Given the description of an element on the screen output the (x, y) to click on. 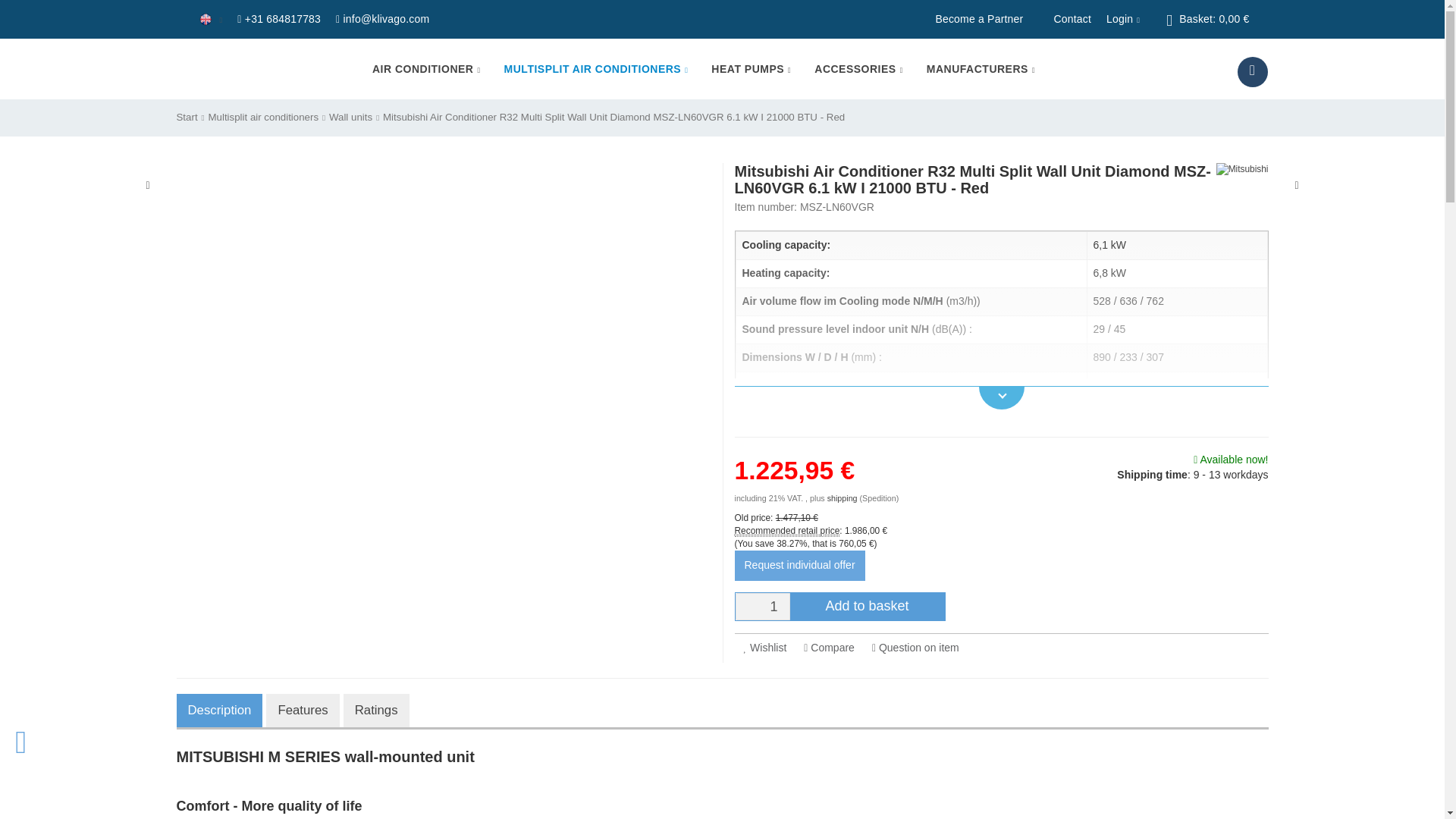
Basket (1207, 18)
1 (762, 605)
Contact (1071, 19)
Please choose a language (210, 19)
Contact-Form (1071, 19)
AIR CONDITIONER (426, 68)
HEAT PUMPS (751, 68)
Login (1123, 19)
MULTISPLIT AIR CONDITIONERS (596, 68)
Multisplit air conditioners (263, 116)
Become a Partner (978, 19)
Start (186, 116)
Wall units (350, 116)
